Given the description of an element on the screen output the (x, y) to click on. 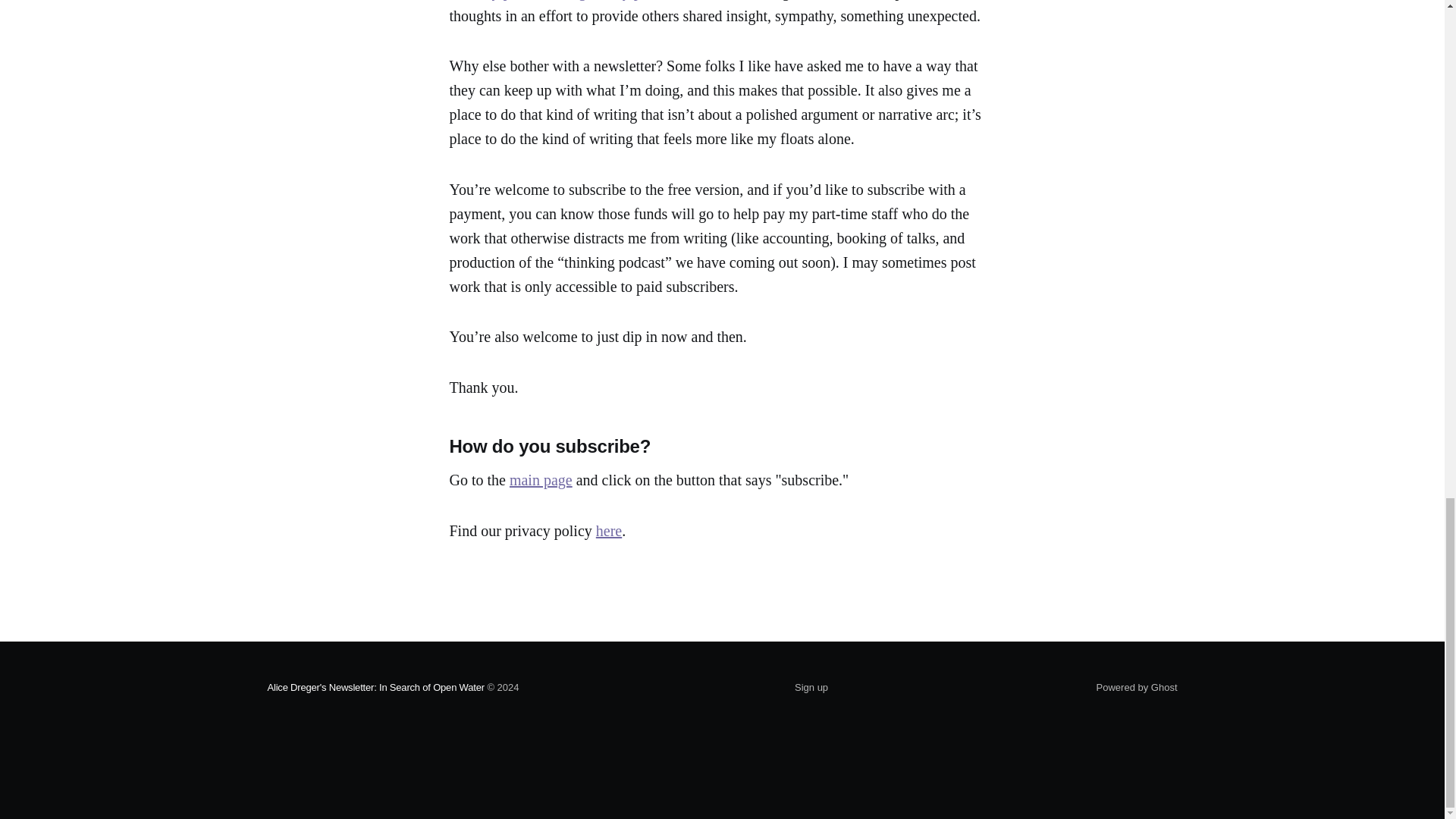
here (608, 530)
Powered by Ghost (1136, 686)
main page (540, 479)
Alice Dreger's Newsletter: In Search of Open Water (374, 686)
Sign up (811, 686)
